Given the description of an element on the screen output the (x, y) to click on. 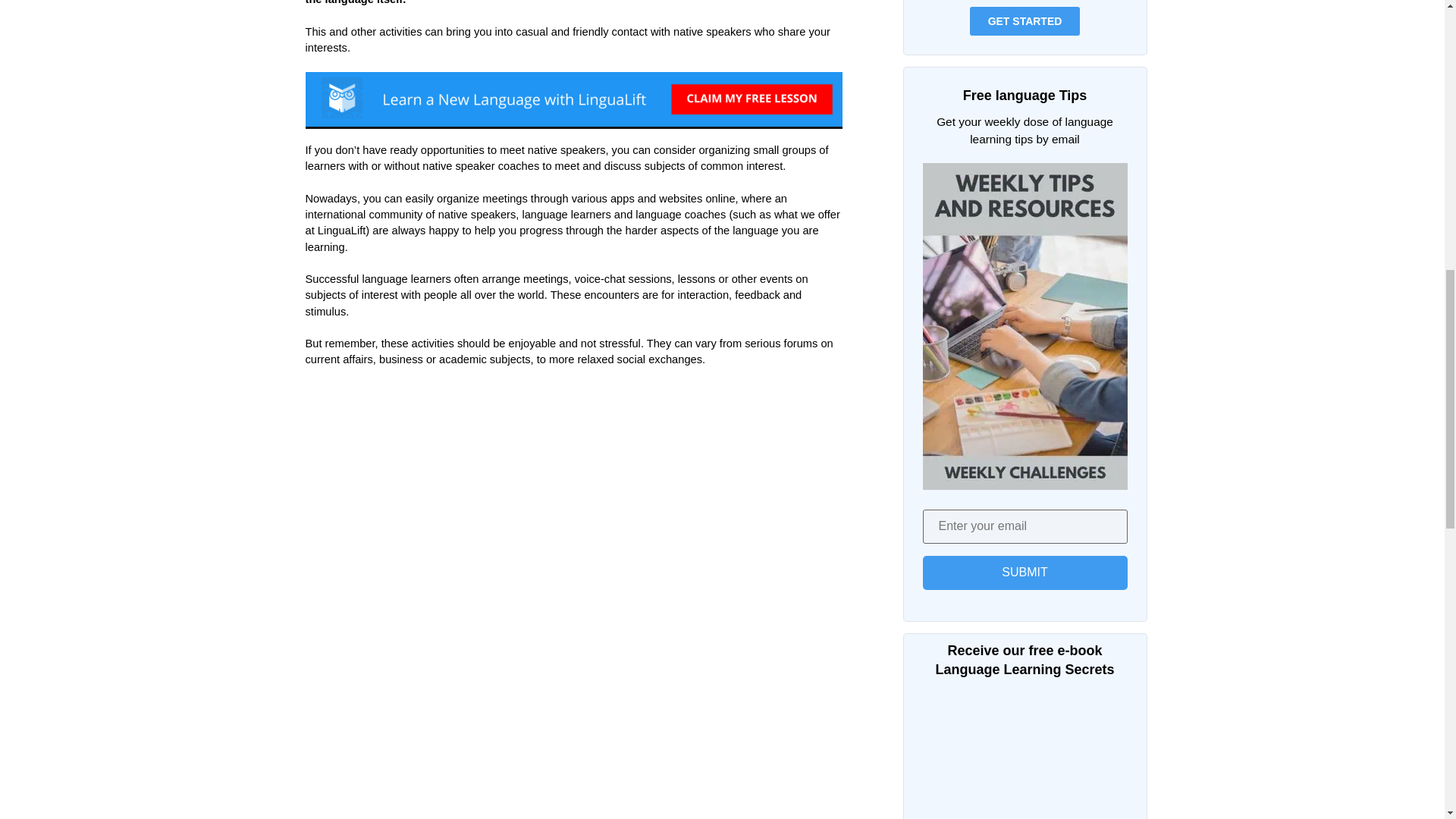
Submit (1023, 572)
GET STARTED (1024, 21)
Submit (1023, 572)
